Given the description of an element on the screen output the (x, y) to click on. 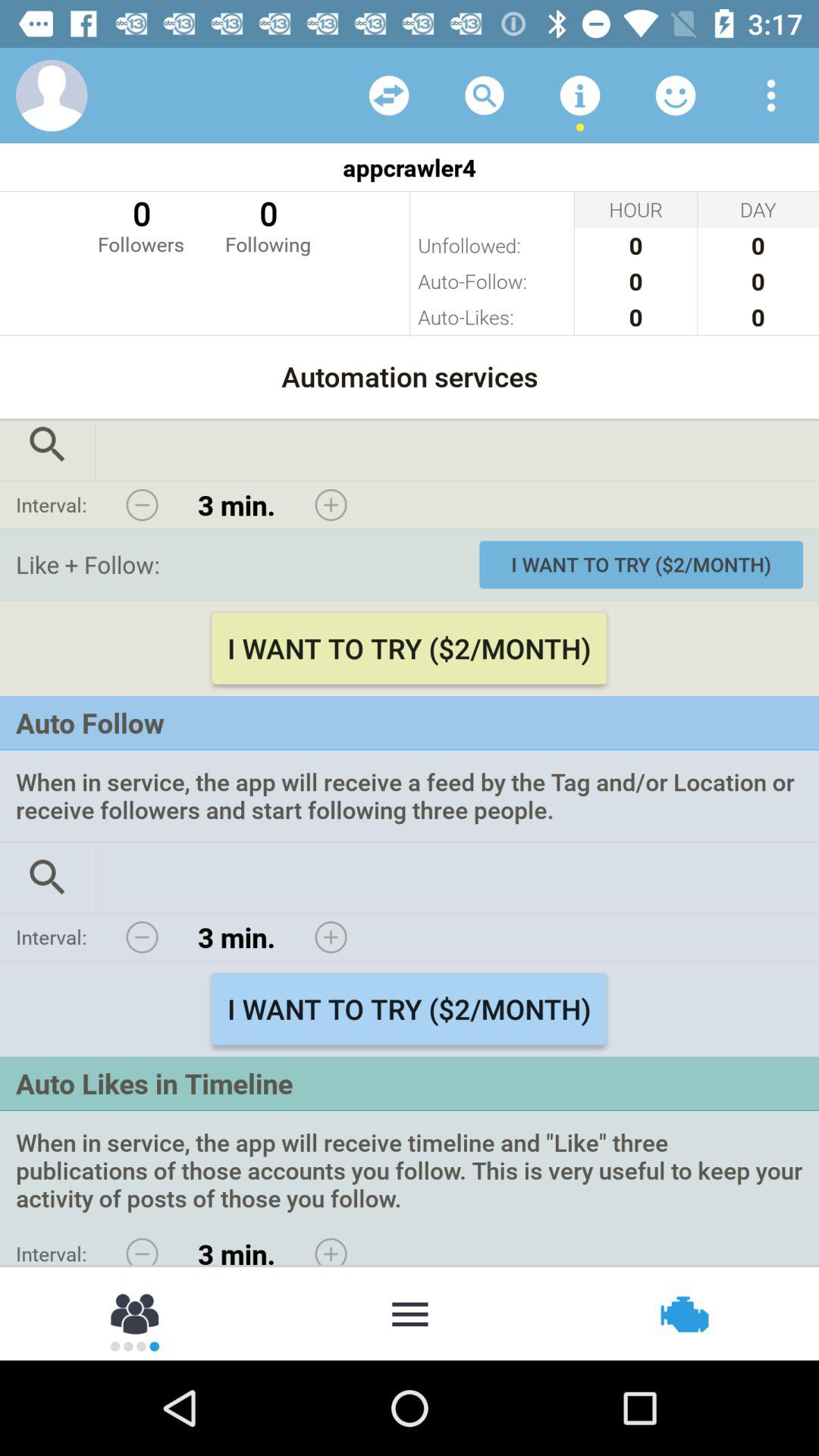
decrease interval (142, 937)
